Given the description of an element on the screen output the (x, y) to click on. 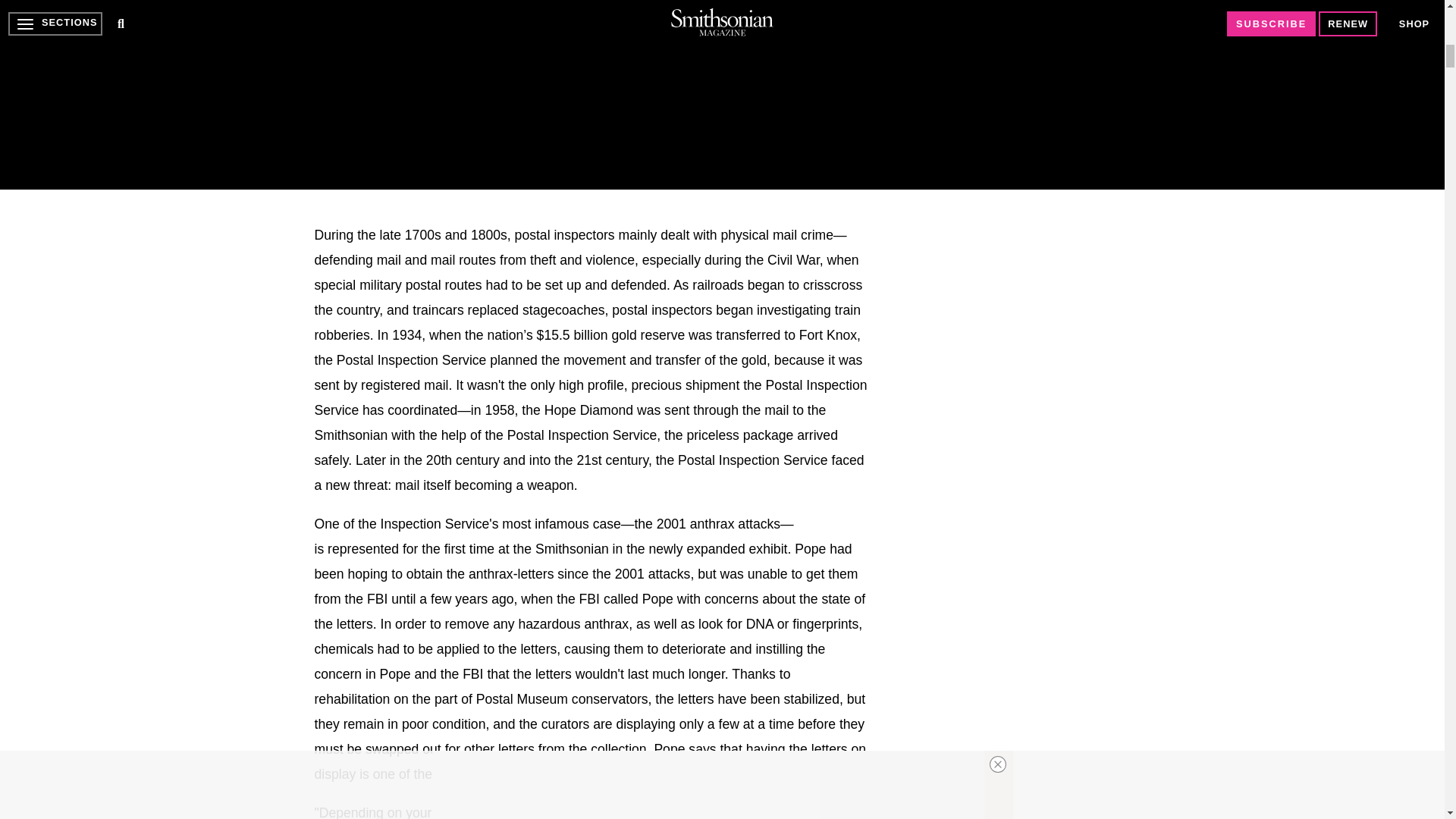
Search (942, 2)
